Given the description of an element on the screen output the (x, y) to click on. 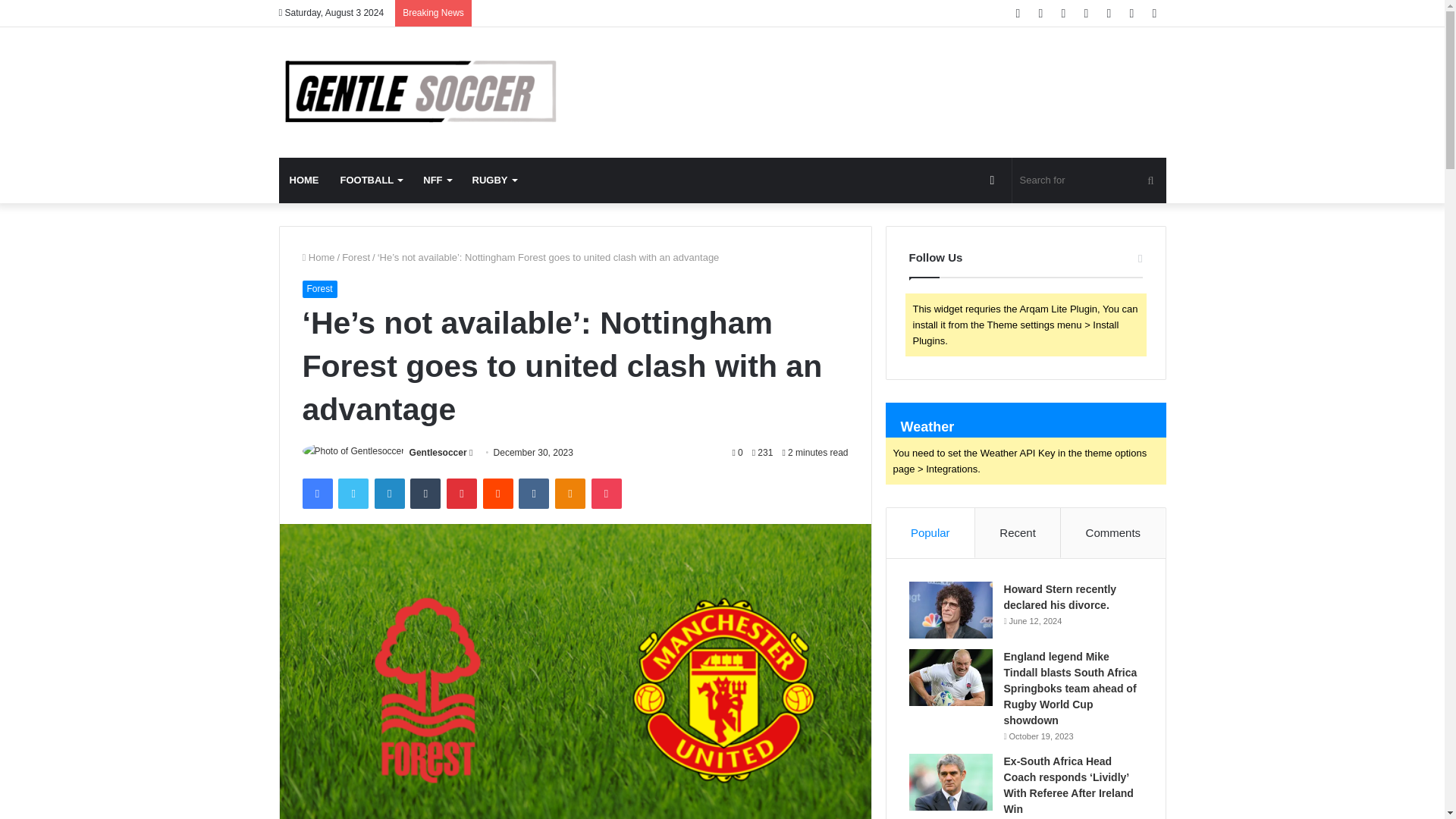
NFF (436, 180)
Search for (1088, 180)
LinkedIn (389, 493)
HOME (304, 180)
FOOTBALL (370, 180)
Gentlesoccer (419, 92)
RUGBY (494, 180)
VKontakte (533, 493)
Pinterest (461, 493)
Gentlesoccer (438, 452)
Reddit (498, 493)
